Given the description of an element on the screen output the (x, y) to click on. 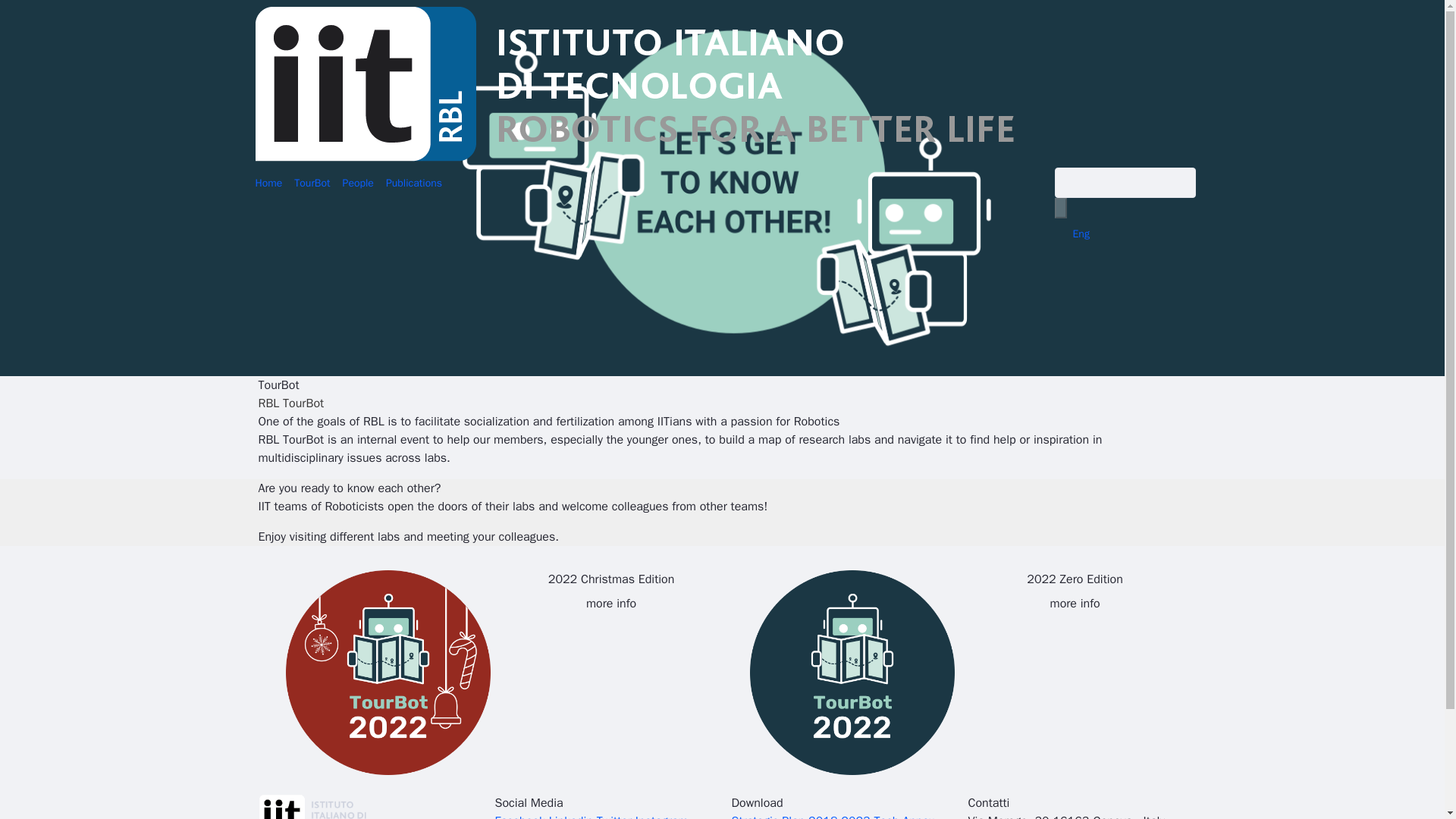
Tech Annex 2018-2023 (832, 816)
more info (610, 603)
Publications (414, 183)
People (358, 183)
Facebook (519, 816)
Instagram (661, 816)
Twitter (613, 816)
Linkedin (570, 816)
Eng (1079, 233)
TourBot (312, 183)
Home (268, 183)
Strategic Plan 2018-2023 (799, 816)
more info (1075, 603)
